Given the description of an element on the screen output the (x, y) to click on. 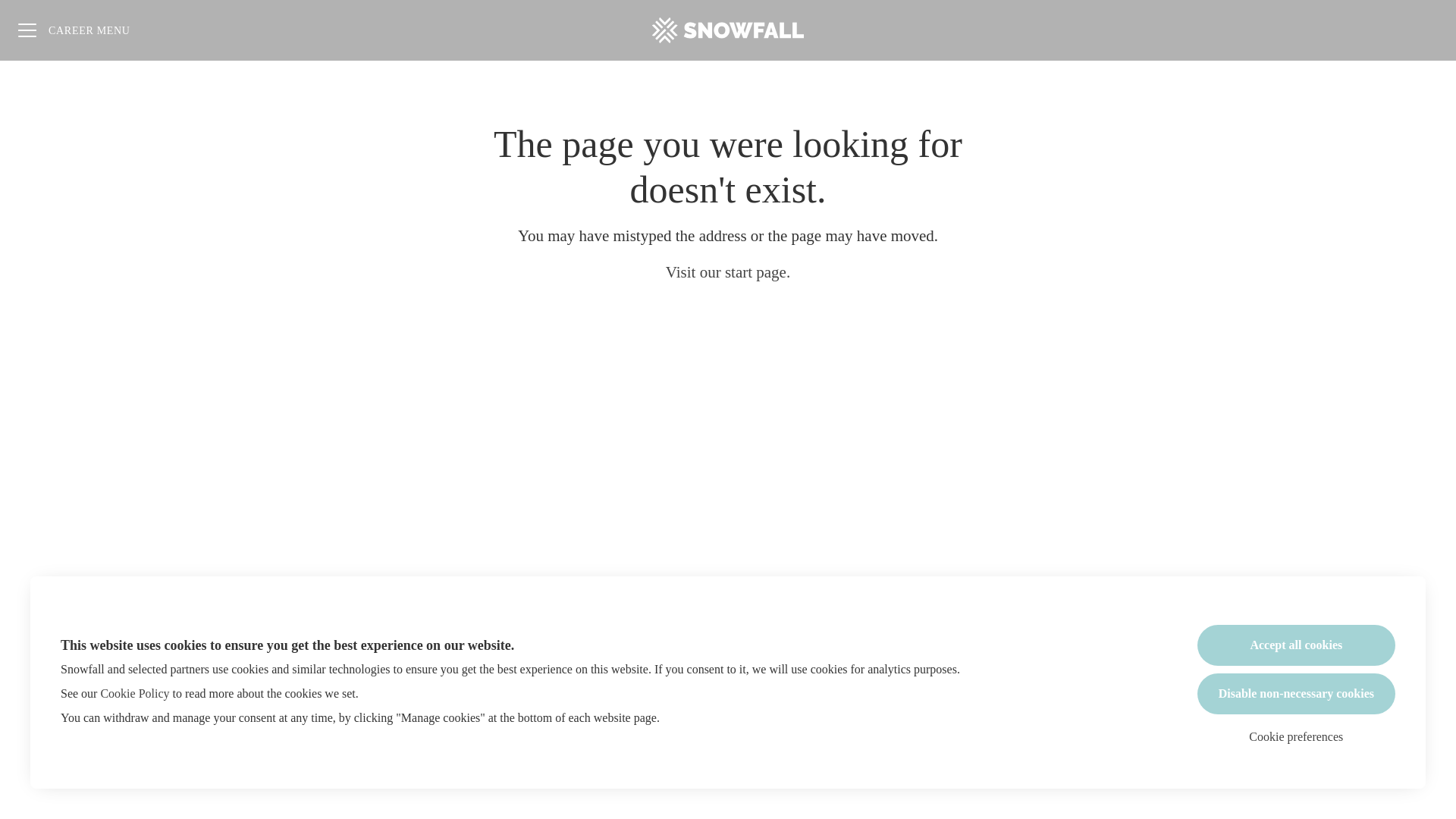
Career menu (73, 30)
Accept all cookies (1295, 644)
CAREER MENU (73, 30)
Disable non-necessary cookies (1295, 693)
Cookie preferences (1296, 736)
Cookie Policy (134, 693)
Visit our start page. (727, 273)
